Given the description of an element on the screen output the (x, y) to click on. 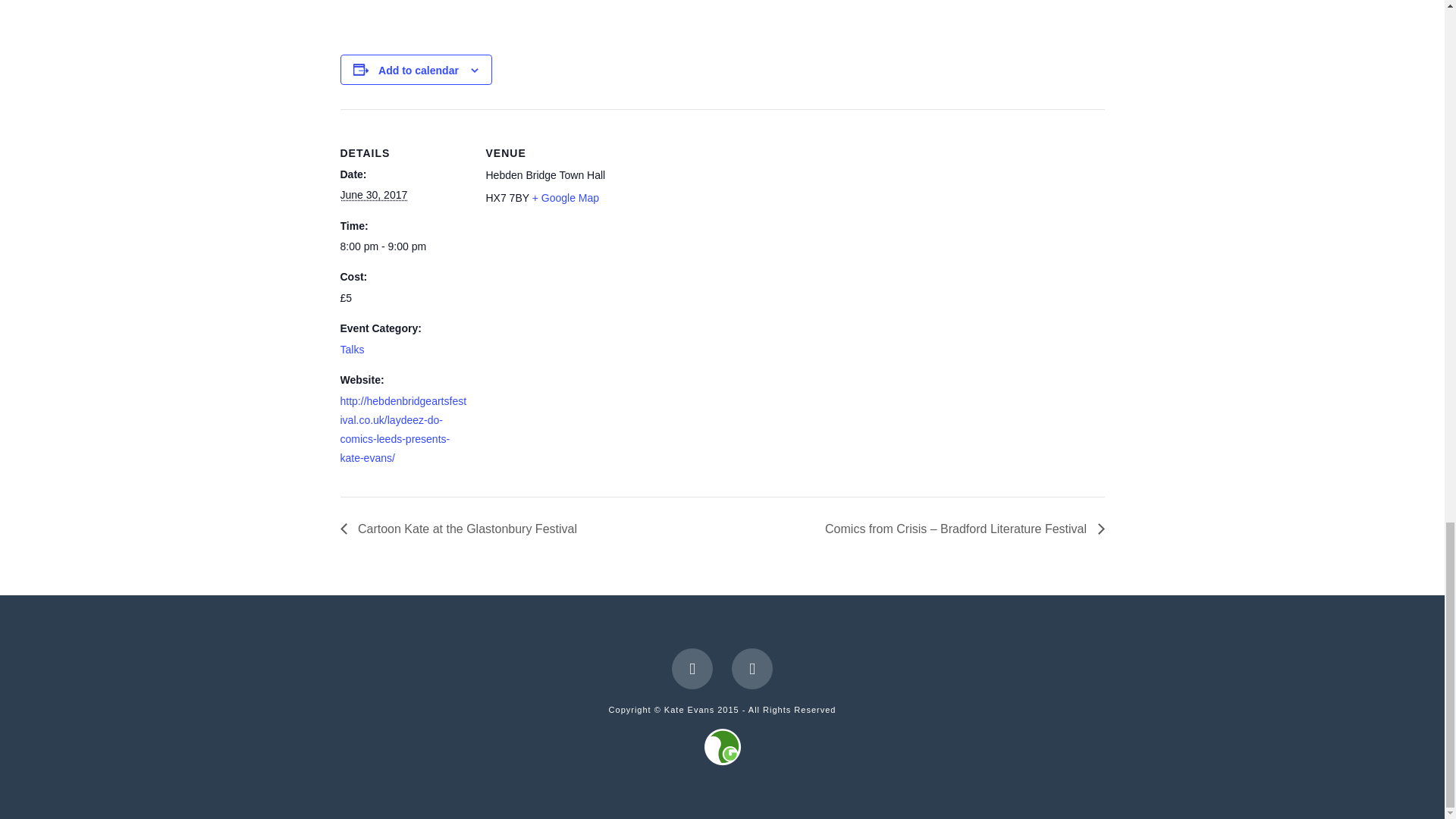
Talks (351, 349)
2017-06-30 (403, 246)
2017-06-30 (373, 194)
Add to calendar (418, 70)
Facebook (692, 668)
Click to view a Google Map (565, 197)
Cartoon Kate at the Glastonbury Festival (462, 528)
